Given the description of an element on the screen output the (x, y) to click on. 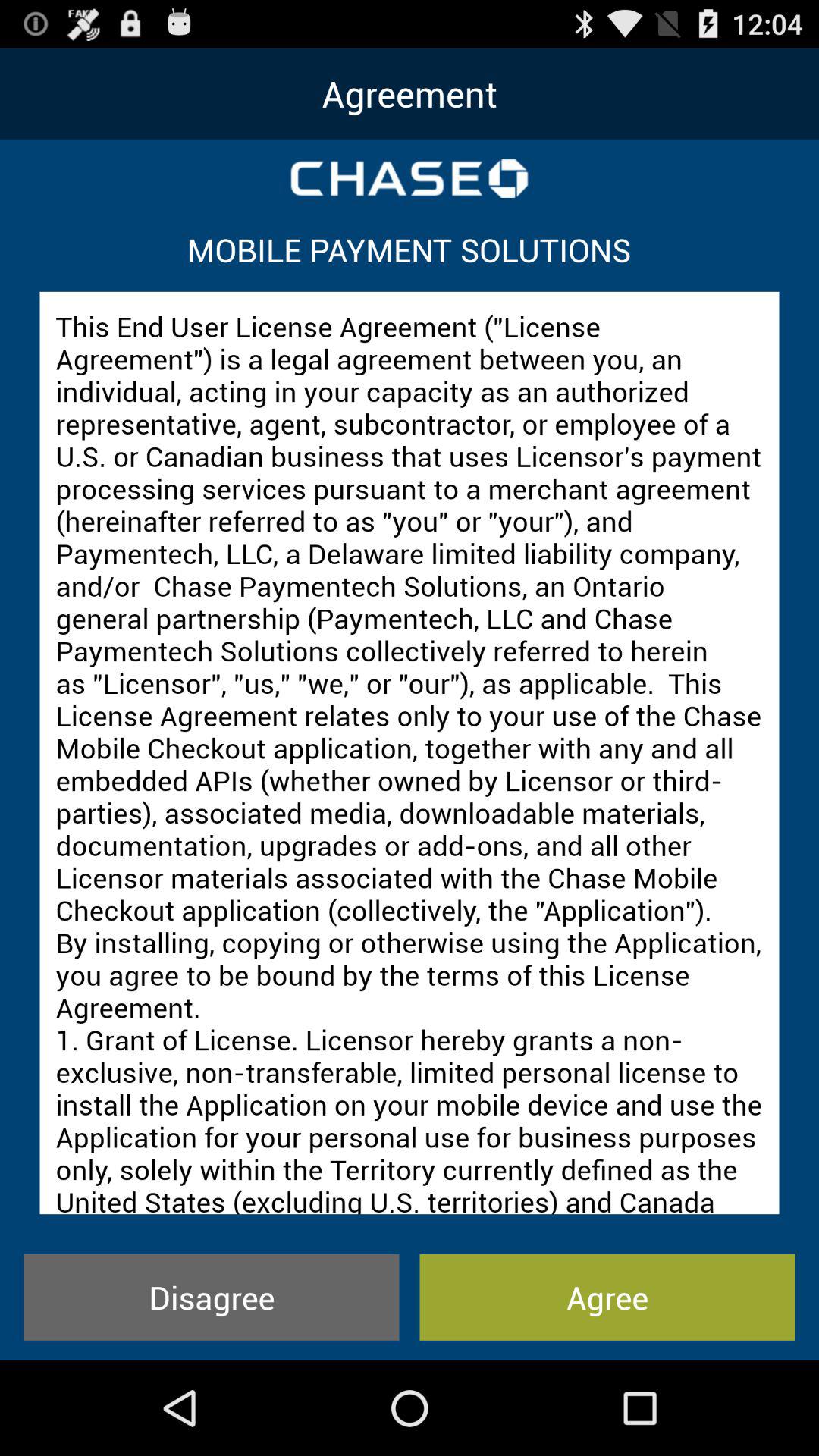
swipe until disagree item (211, 1297)
